Given the description of an element on the screen output the (x, y) to click on. 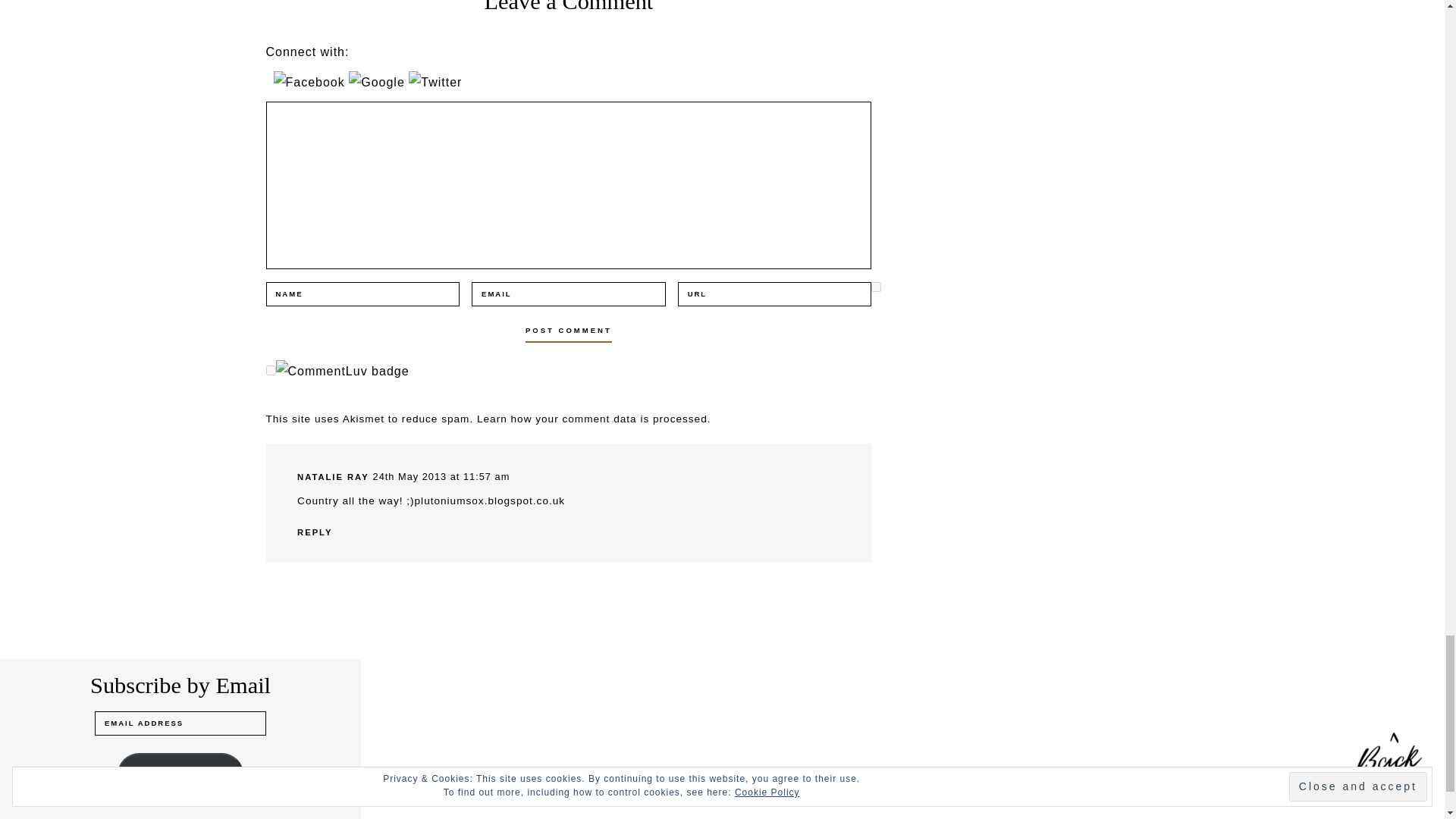
on (269, 370)
Connect with Facebook (311, 82)
Connect with Google (379, 82)
Connect with Twitter (435, 82)
Post Comment (568, 330)
1 (875, 286)
